Given the description of an element on the screen output the (x, y) to click on. 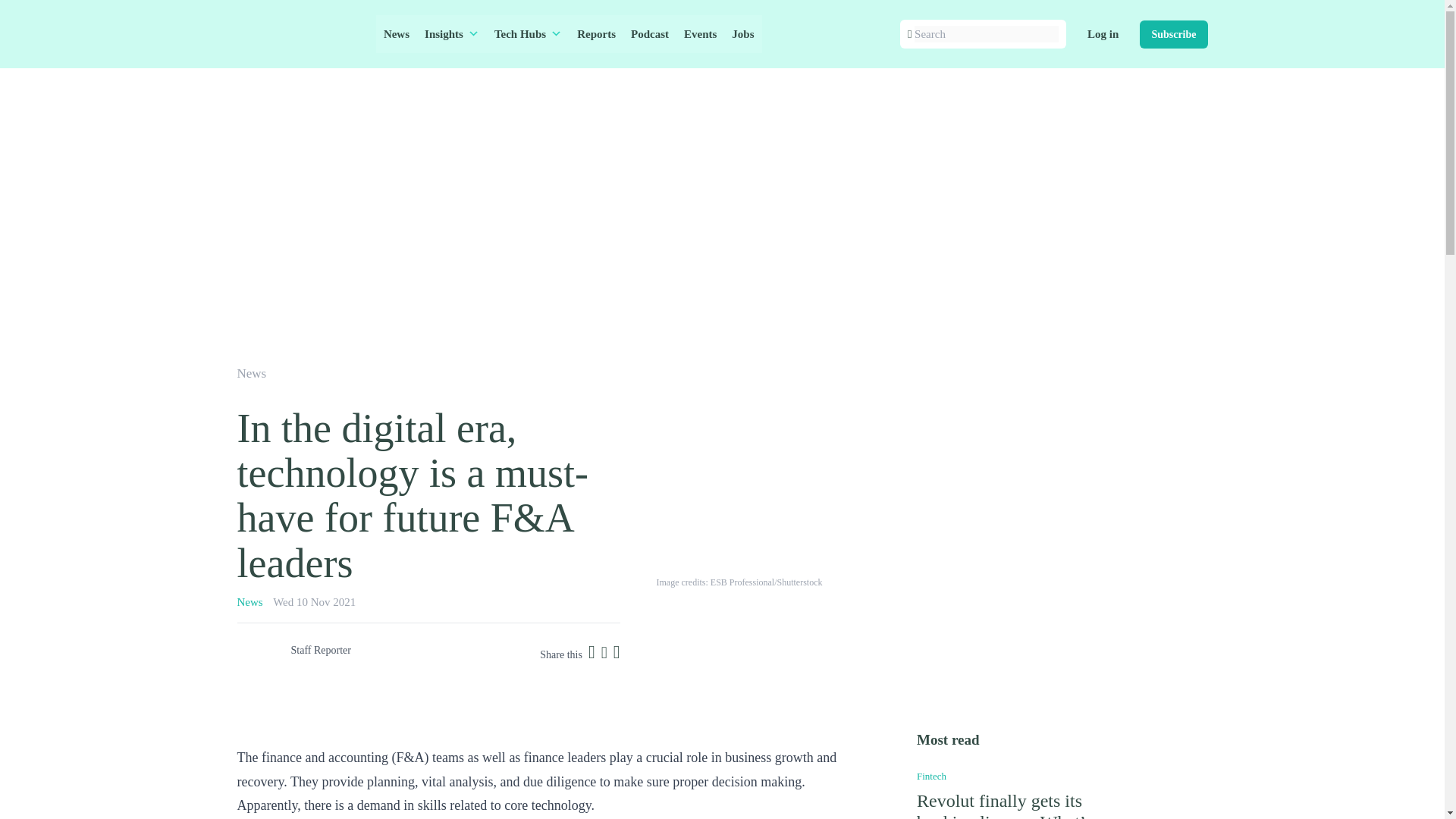
Log in (1102, 34)
Posts by Staff Reporter (320, 650)
Search for: (986, 34)
Podcast (650, 34)
Tech Hubs (527, 34)
Jobs (742, 34)
Staff Reporter (320, 650)
Insights (451, 34)
Events (700, 34)
Subscribe (1173, 33)
News (250, 373)
Reports (596, 34)
News (395, 34)
News (248, 602)
